Given the description of an element on the screen output the (x, y) to click on. 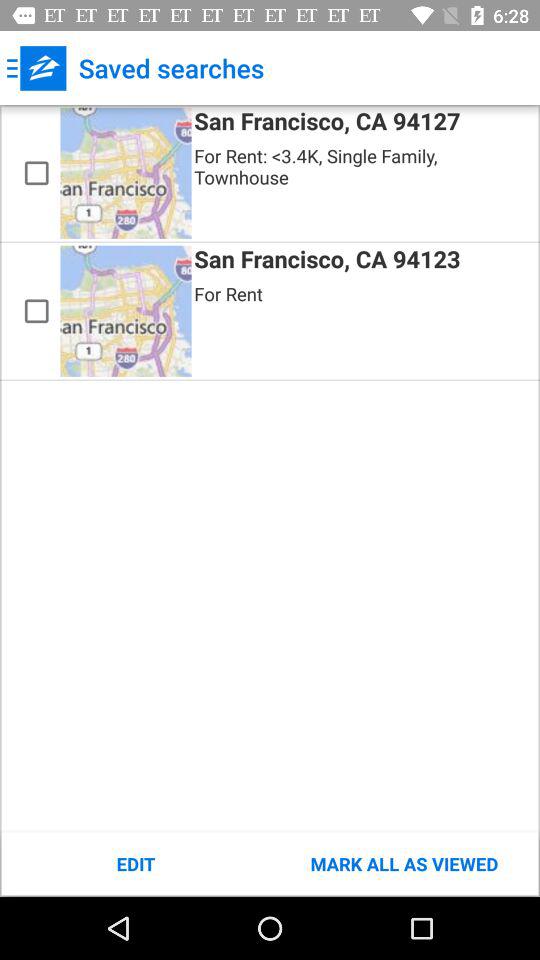
launch the item below san francisco ca item (404, 863)
